Given the description of an element on the screen output the (x, y) to click on. 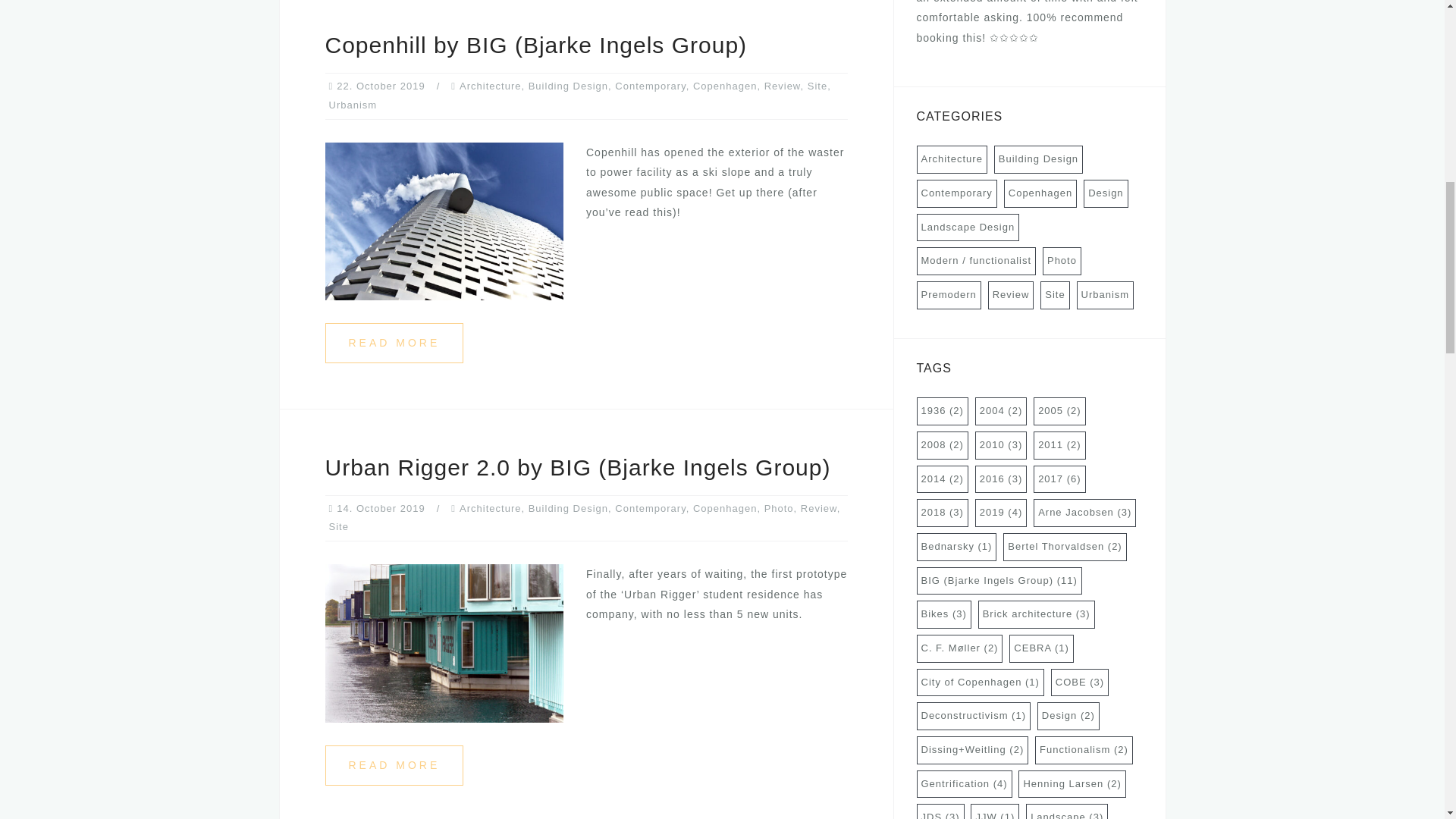
14. October 2019 (380, 508)
Architecture (490, 85)
Building Design (568, 85)
READ MORE (393, 342)
Building Design (568, 508)
Copenhagen (725, 508)
Photo (778, 508)
Architecture (490, 508)
Review (818, 508)
Review (782, 85)
Site (339, 526)
Site (817, 85)
22. October 2019 (380, 85)
Copenhagen (725, 85)
Contemporary (649, 85)
